Given the description of an element on the screen output the (x, y) to click on. 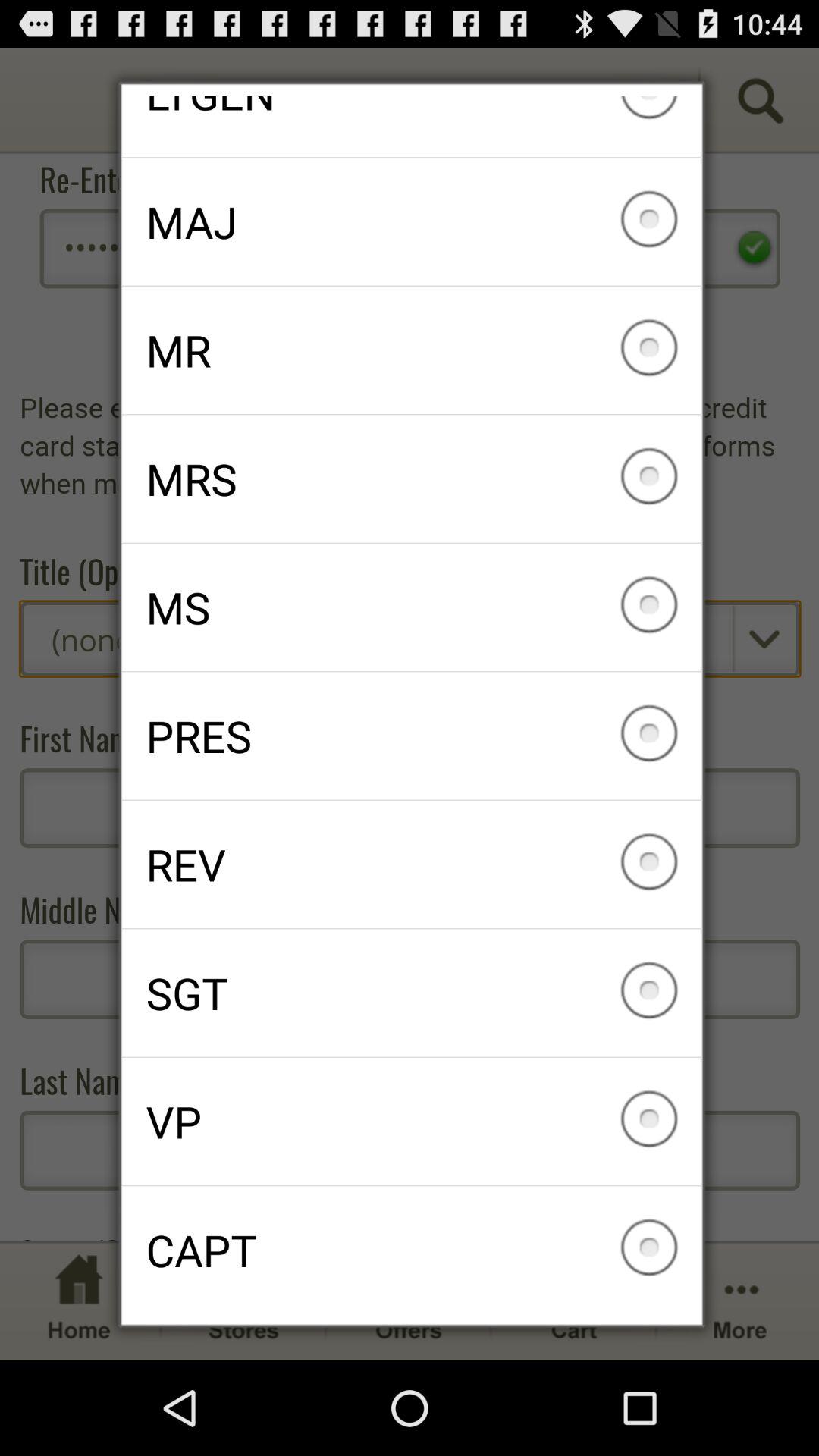
select item below mrs item (411, 607)
